Given the description of an element on the screen output the (x, y) to click on. 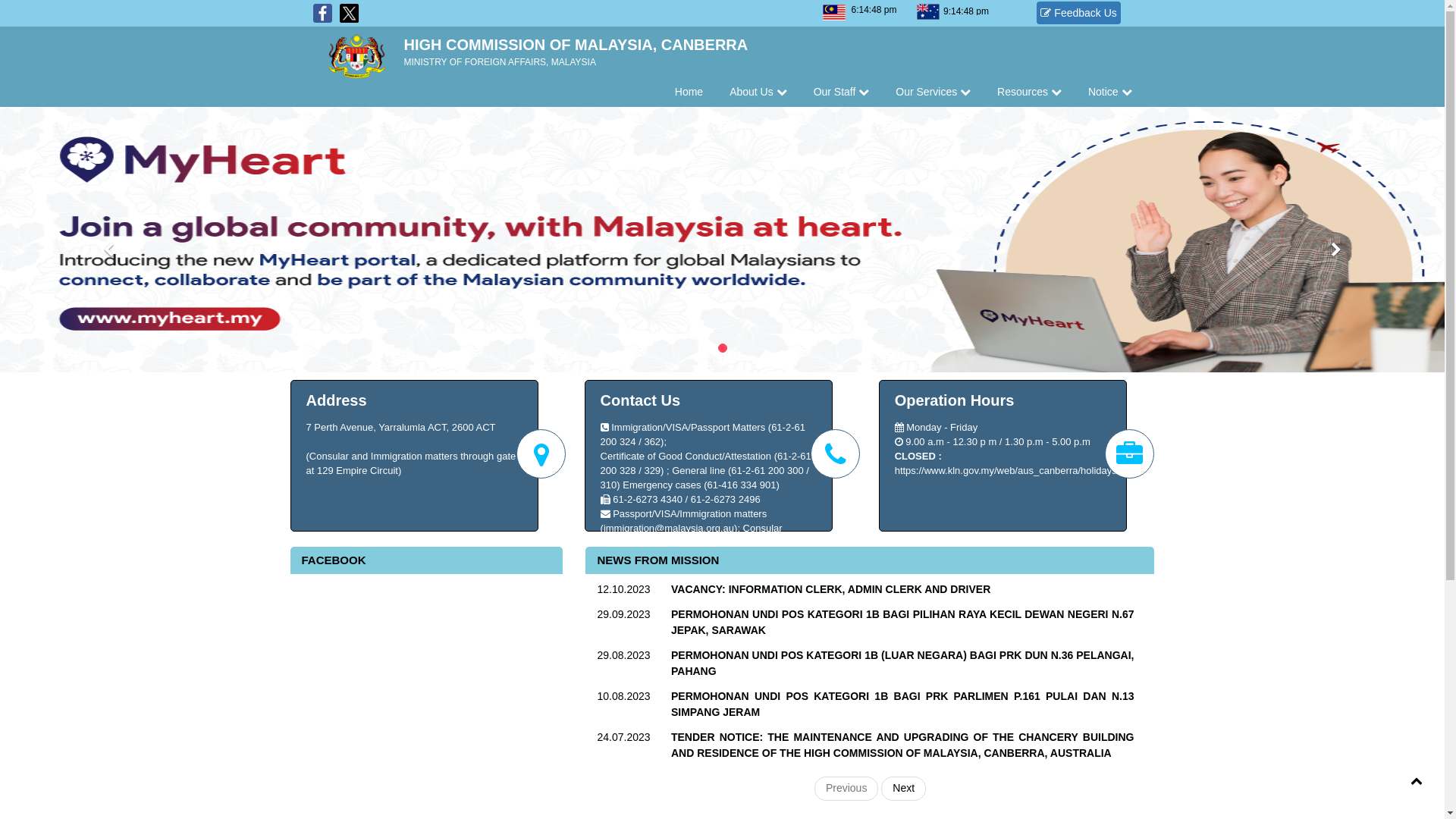
Notice Element type: text (1109, 91)
29.08.2023 Element type: text (624, 655)
HIGH COMMISSION OF MALAYSIA, CANBERRA Element type: text (575, 44)
Home Element type: text (688, 91)
Feedback Us Element type: text (1078, 12)
12.10.2023 Element type: text (624, 589)
Previous Element type: text (846, 788)
Our Services Element type: text (933, 91)
24.07.2023 Element type: text (624, 737)
Go to High Commission of Malaysia, Canberra Element type: hover (346, 52)
Our Staff Element type: text (841, 91)
VACANCY: INFORMATION CLERK, ADMIN CLERK AND DRIVER Element type: text (902, 589)
29.09.2023 Element type: text (624, 614)
10.08.2023 Element type: text (624, 696)
Skip to Content Element type: text (36, 7)
Resources Element type: text (1029, 91)
About Us Element type: text (757, 91)
Next Element type: text (903, 788)
